Given the description of an element on the screen output the (x, y) to click on. 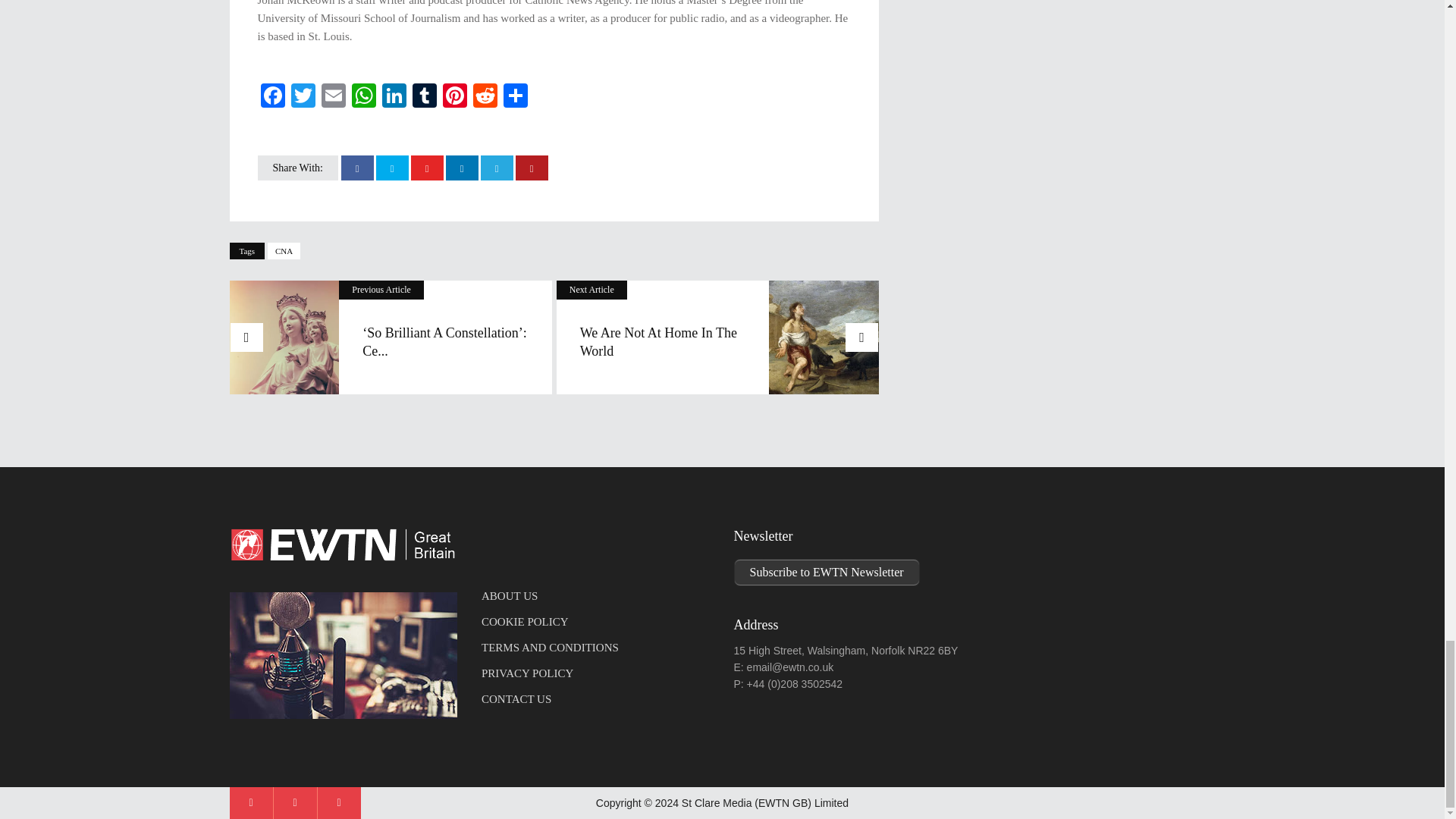
WhatsApp (363, 97)
Reddit (485, 97)
Twitter (303, 97)
Email (333, 97)
LinkedIn (393, 97)
Tumblr (424, 97)
Facebook (272, 97)
Pinterest (454, 97)
